Given the description of an element on the screen output the (x, y) to click on. 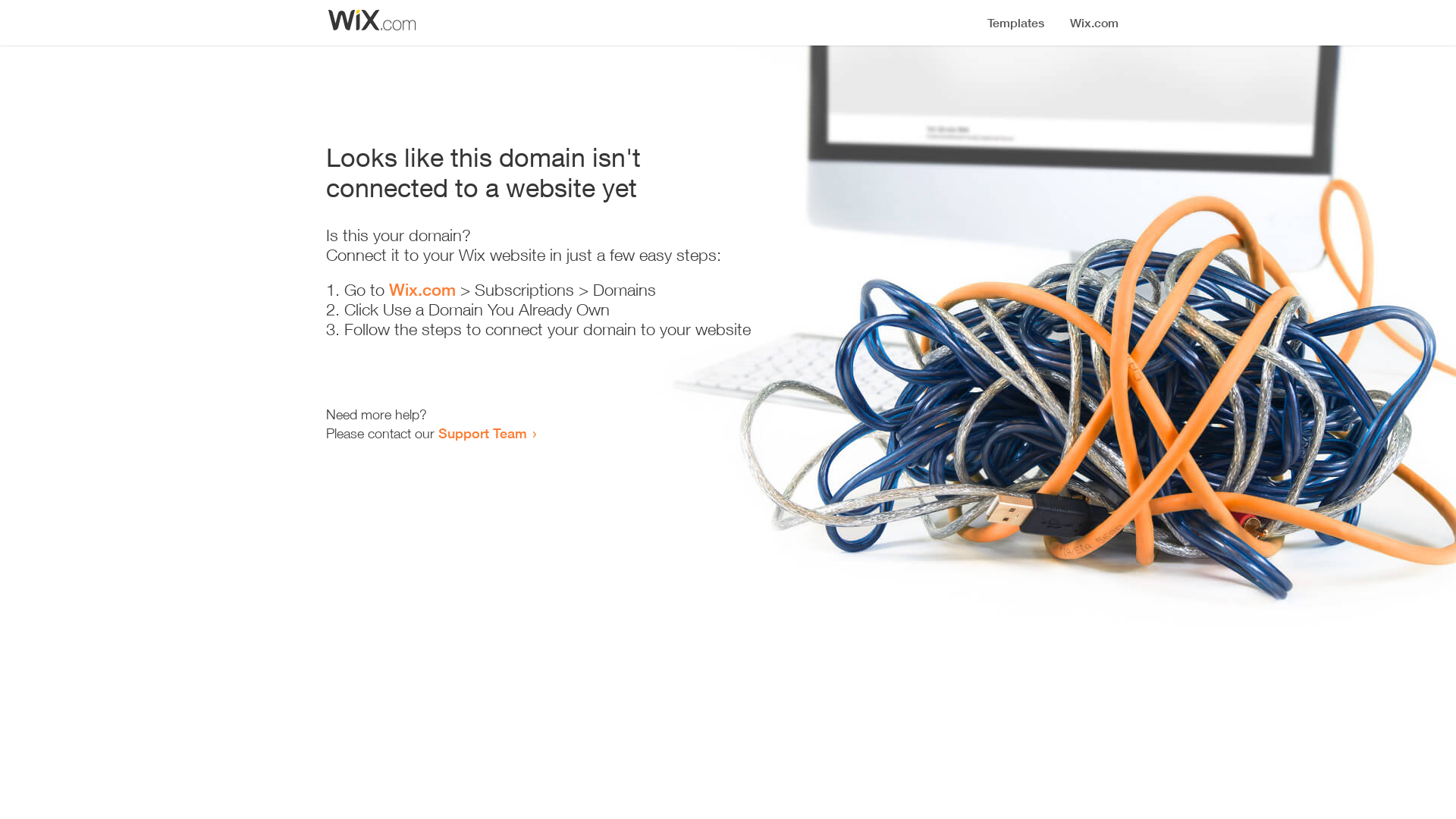
Wix.com Element type: text (422, 289)
Support Team Element type: text (482, 432)
